Given the description of an element on the screen output the (x, y) to click on. 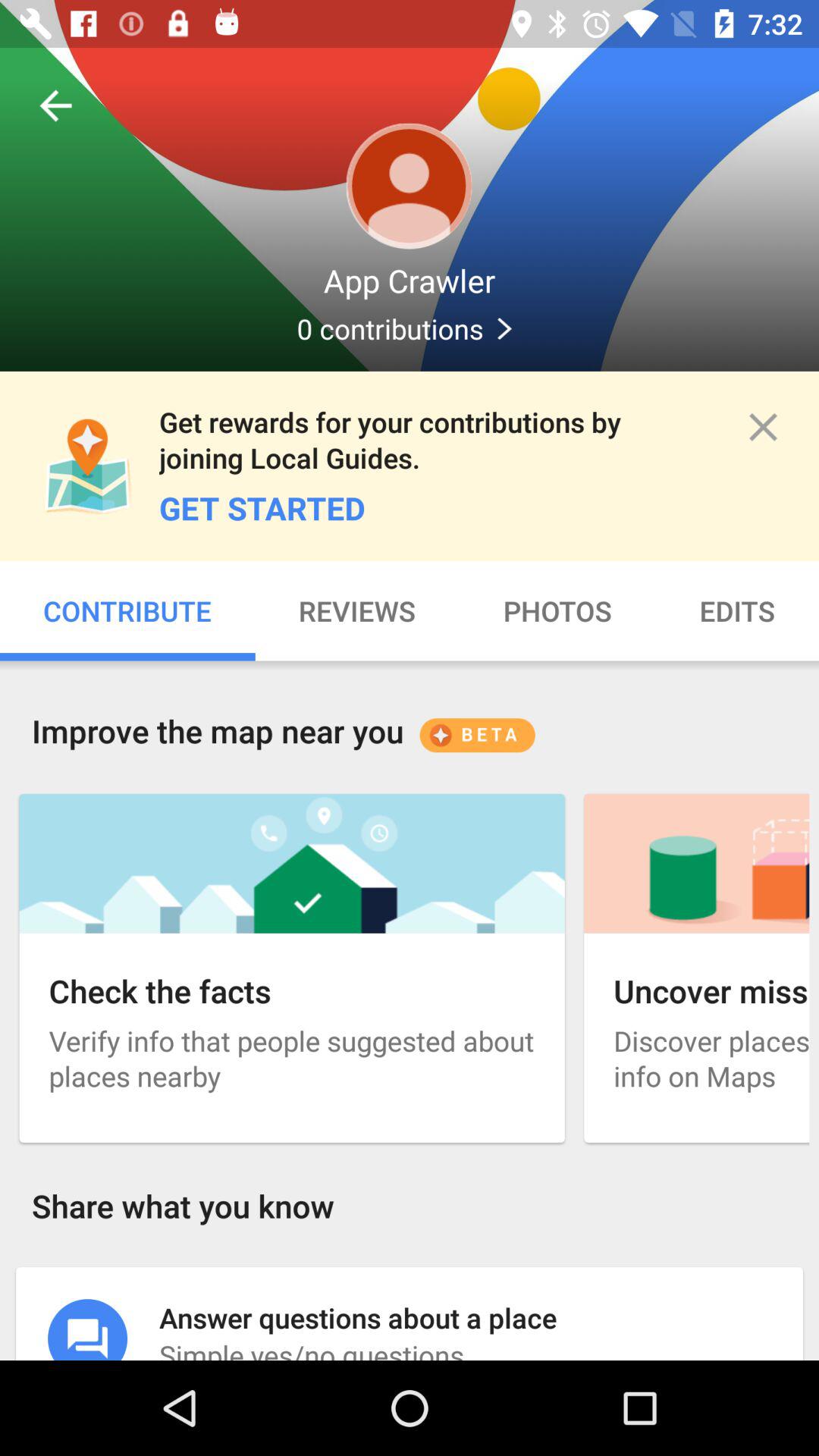
turn off item below the get started (737, 610)
